Given the description of an element on the screen output the (x, y) to click on. 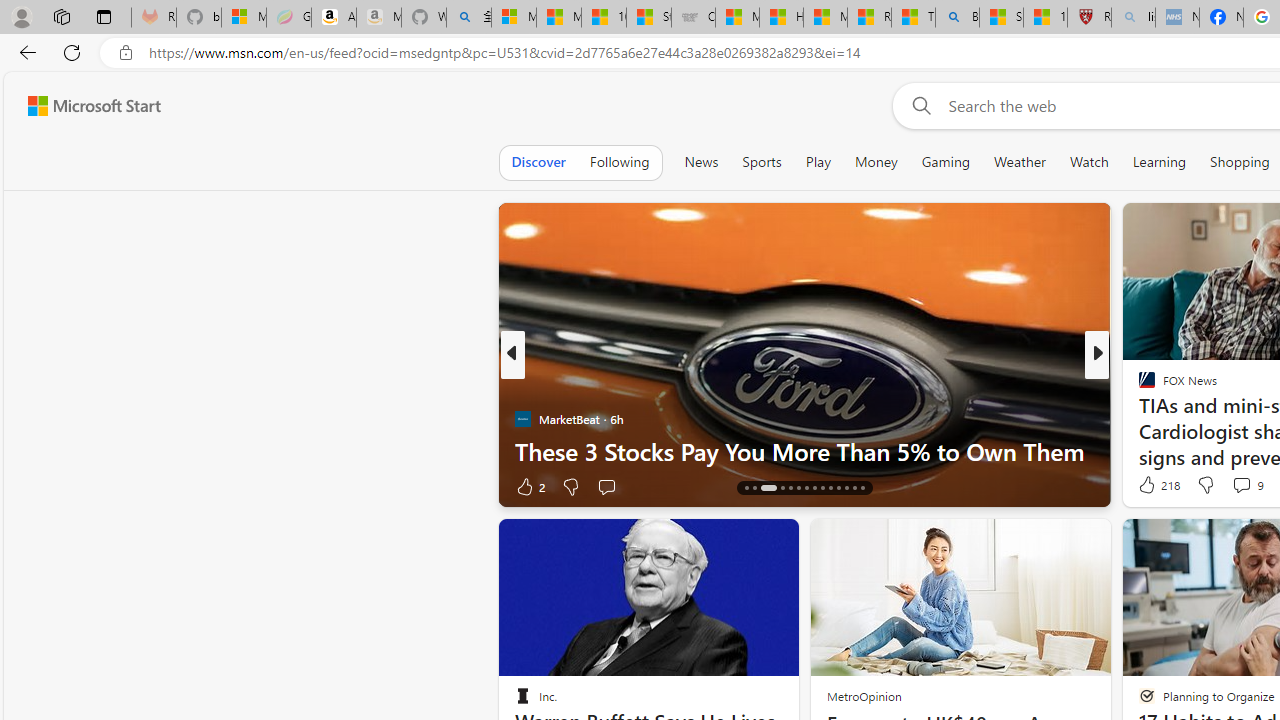
View comments 23 Comment (1234, 485)
The Hearty Soul (1138, 386)
AutomationID: tab-16 (754, 487)
Money (876, 162)
Bing (957, 17)
View comments 5 Comment (1229, 485)
Recipes - MSN (868, 17)
Constative (1138, 386)
Play (818, 162)
Play (817, 161)
